Given the description of an element on the screen output the (x, y) to click on. 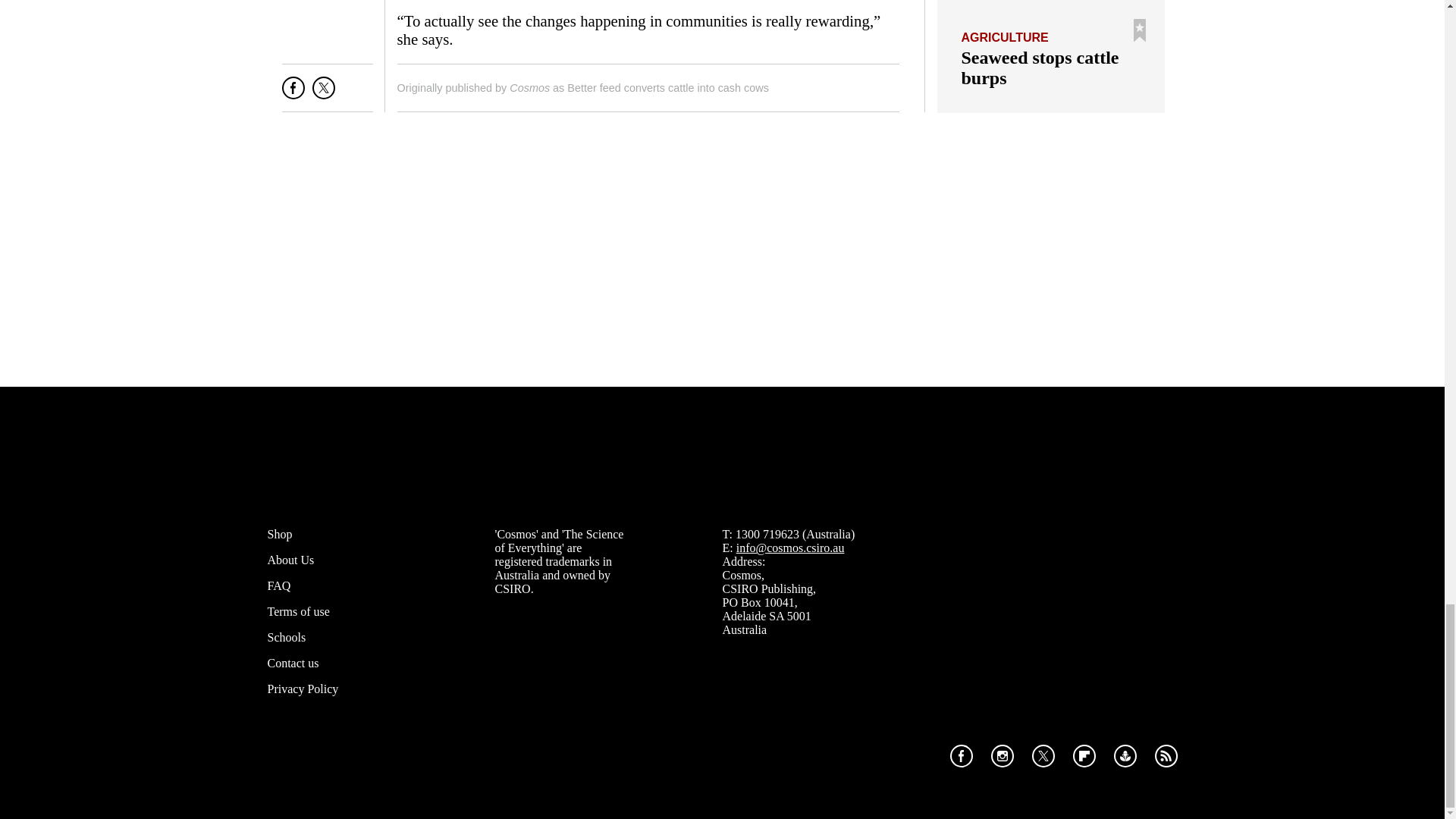
Tweet (323, 93)
Better feed converts cattle into cash cows (667, 87)
Share on Facebook (293, 93)
